Given the description of an element on the screen output the (x, y) to click on. 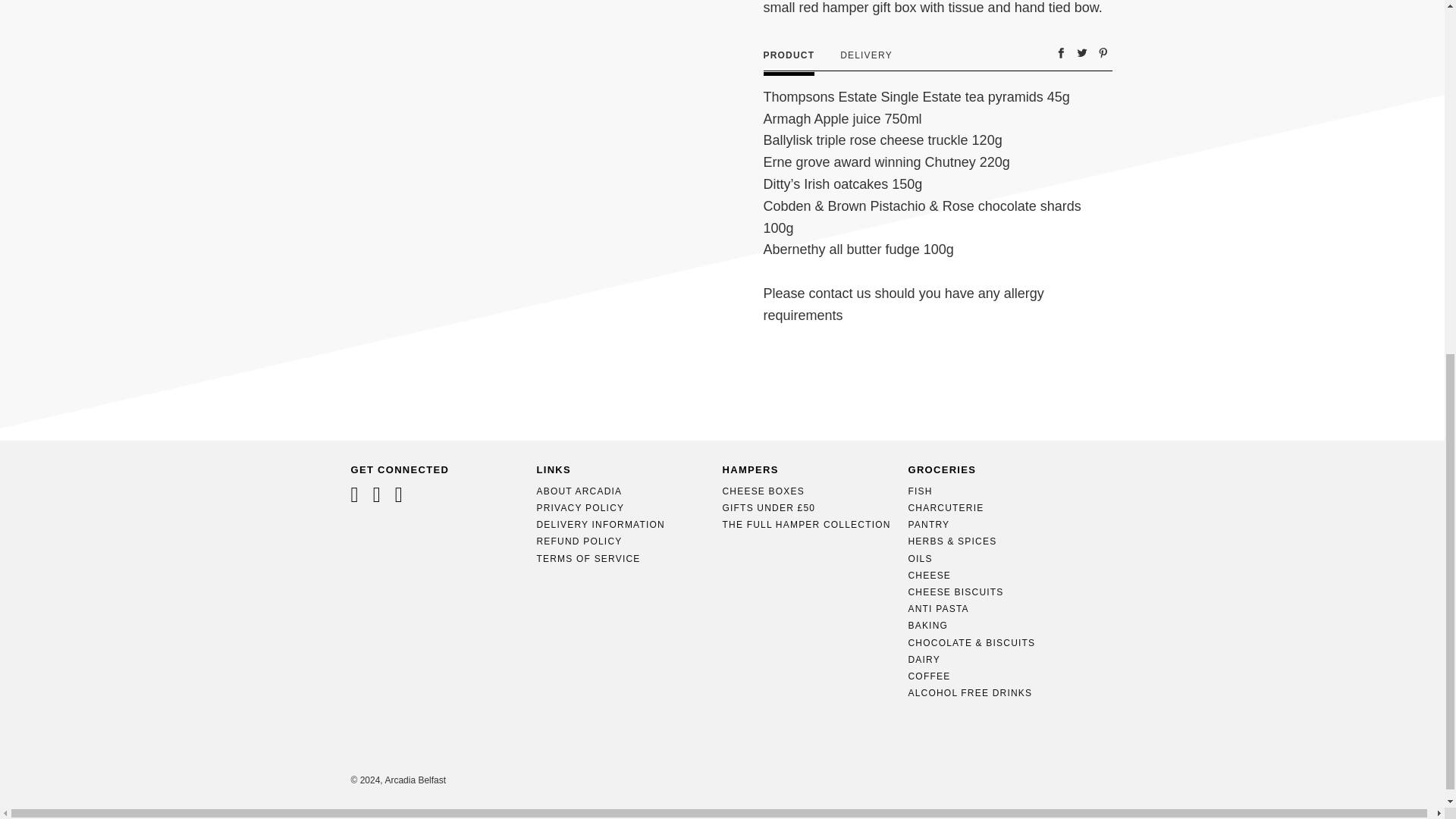
PRODUCT (787, 54)
